Given the description of an element on the screen output the (x, y) to click on. 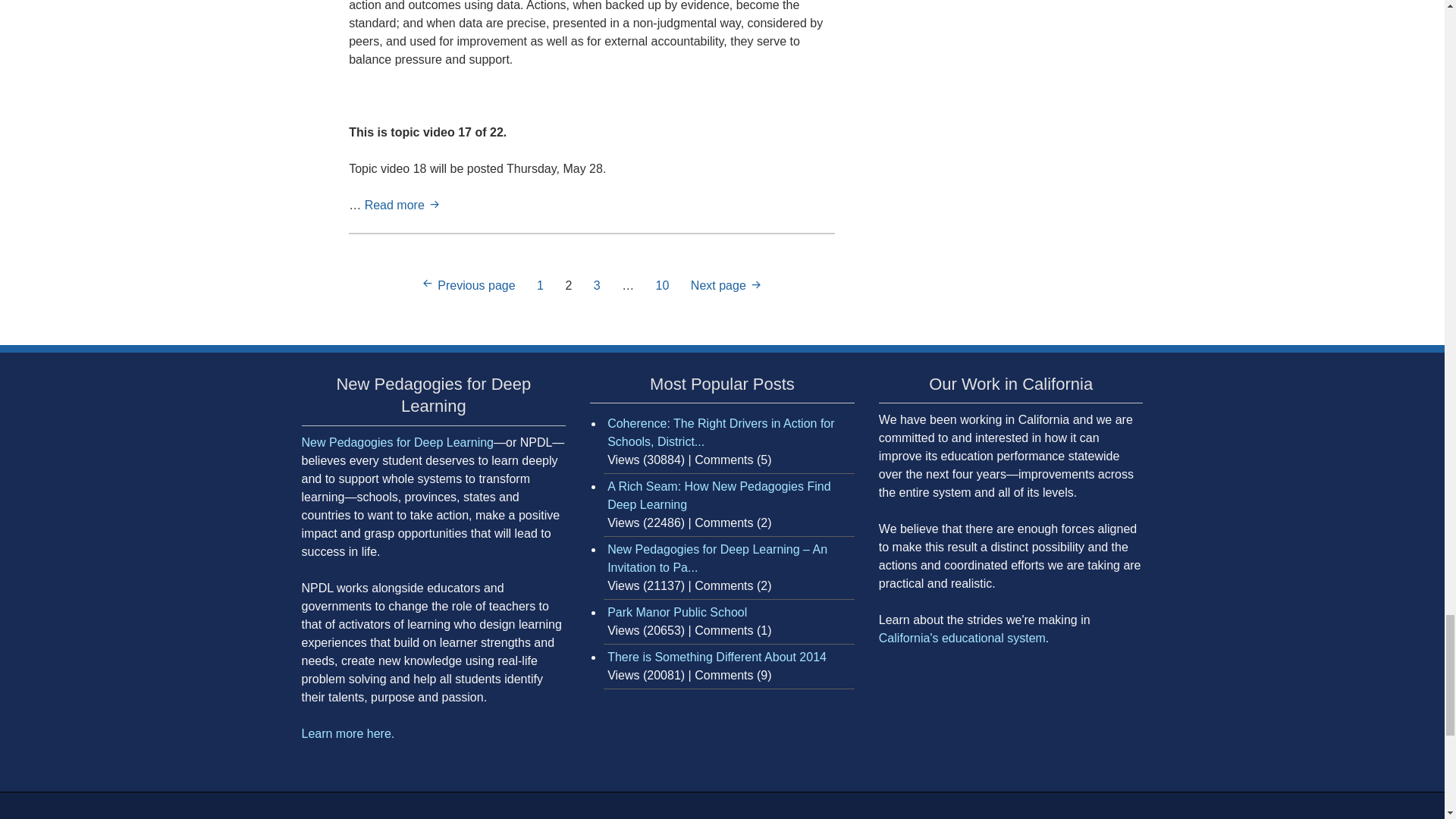
There is Something Different About 2014 (717, 656)
A Rich Seam: How New Pedagogies Find Deep Learning (718, 495)
Park Manor Public School (676, 612)
